Given the description of an element on the screen output the (x, y) to click on. 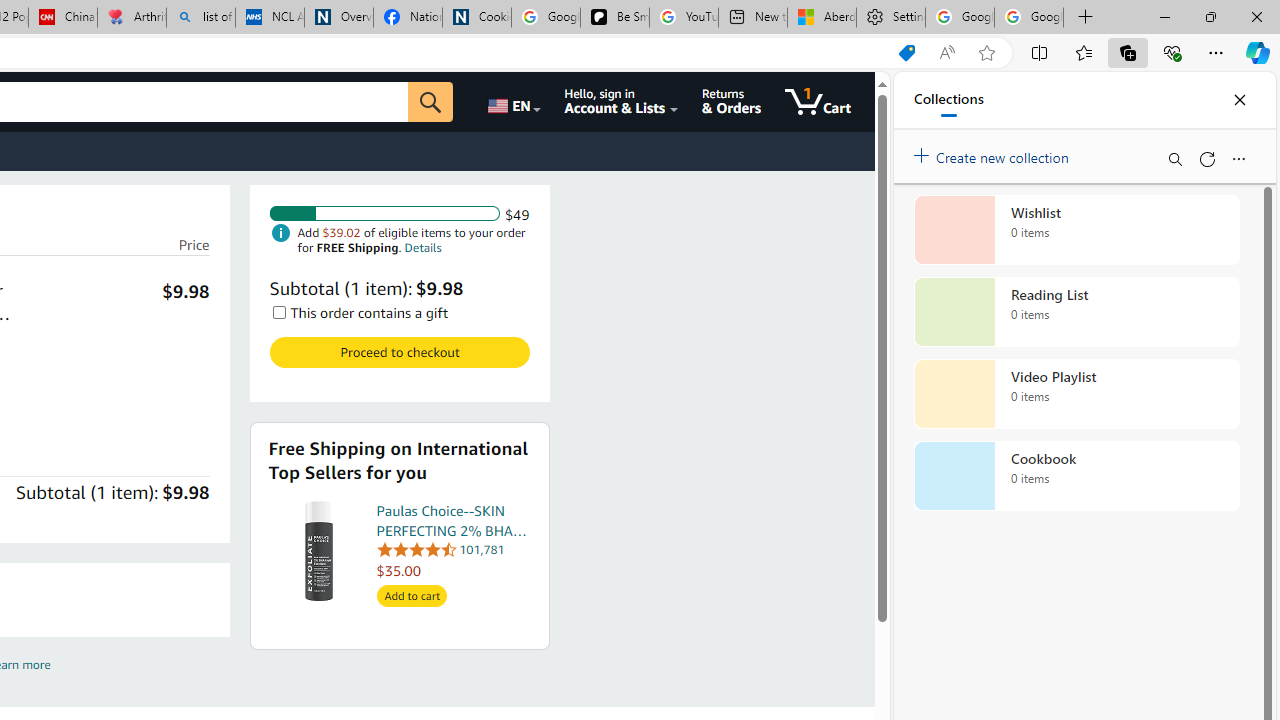
Shopping in Microsoft Edge (906, 53)
Choose a language for shopping. (513, 101)
Reading List collection, 0 items (1076, 312)
$35.00 (453, 570)
Details (422, 246)
Go (431, 101)
Hello, sign in Account & Lists (621, 101)
Cookbook collection, 0 items (1076, 475)
Cookies (476, 17)
